Given the description of an element on the screen output the (x, y) to click on. 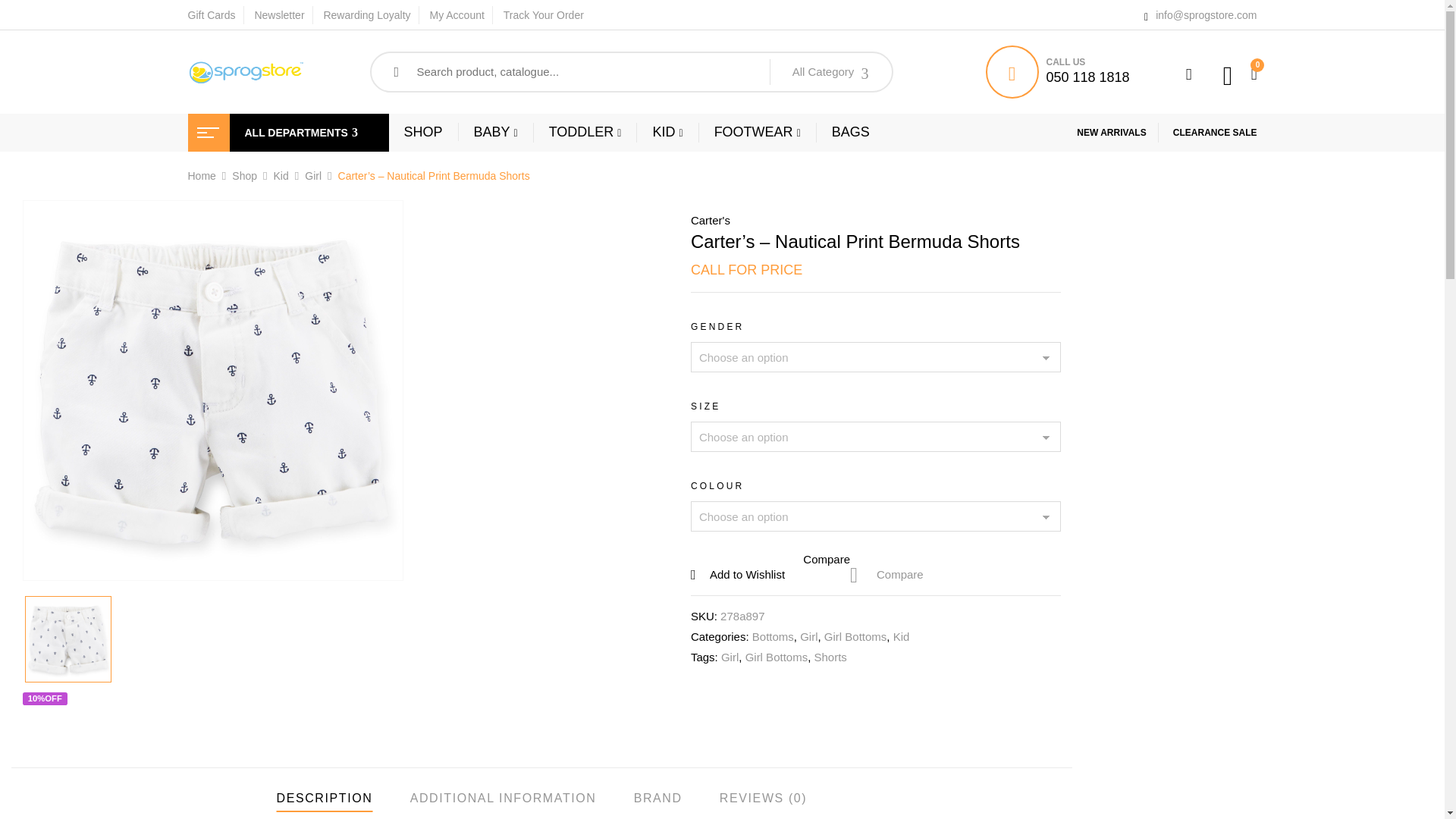
BABY (496, 131)
Gift Cards (211, 15)
My Account (456, 15)
Newsletter (278, 15)
900cc250-a2ee-4336-9778-387377069088.png (68, 639)
050 118 1818 (1087, 77)
Track Your Order (543, 15)
Rewarding Loyalty (366, 15)
View brand (710, 220)
SHOP (422, 131)
